Given the description of an element on the screen output the (x, y) to click on. 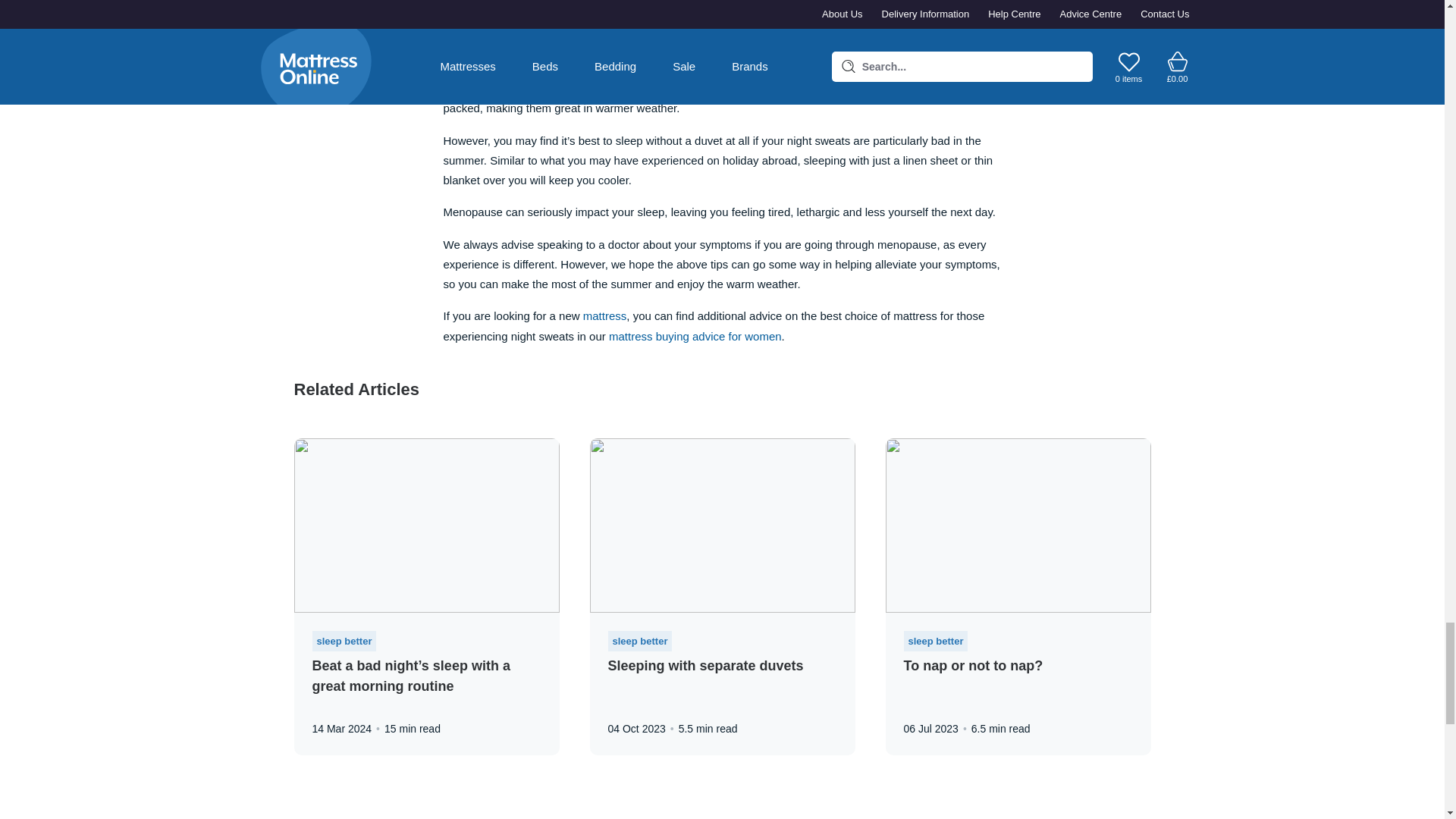
Tog ratings (937, 15)
mattress (605, 315)
sleep better (345, 640)
Sleeping with separate duvets (705, 666)
mattress buying advice for women (694, 336)
To nap or not to nap? (973, 666)
